Given the description of an element on the screen output the (x, y) to click on. 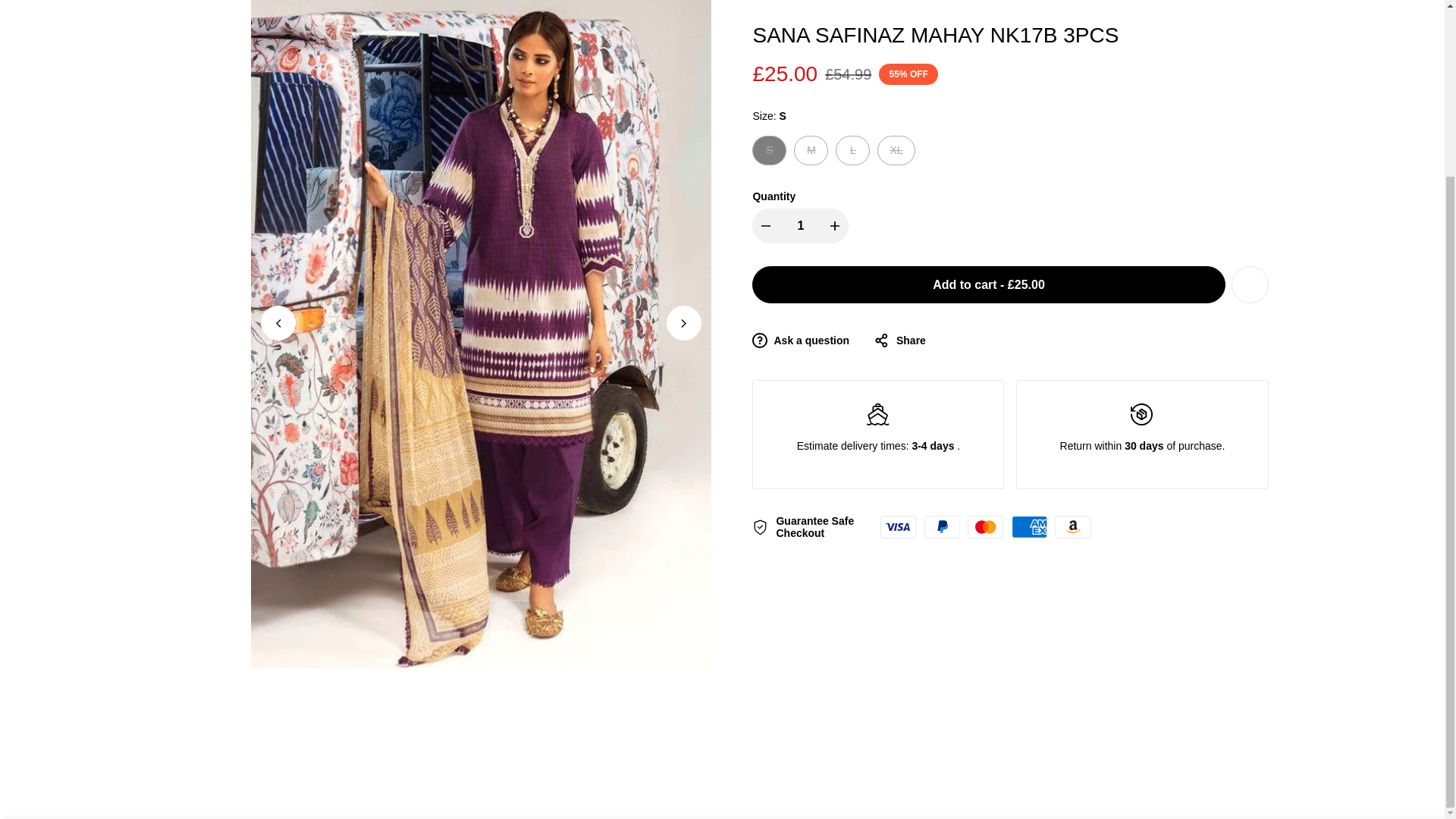
Visa (897, 481)
Mastercard (985, 481)
American Express (1029, 481)
PayPal (942, 481)
1 (800, 181)
